Given the description of an element on the screen output the (x, y) to click on. 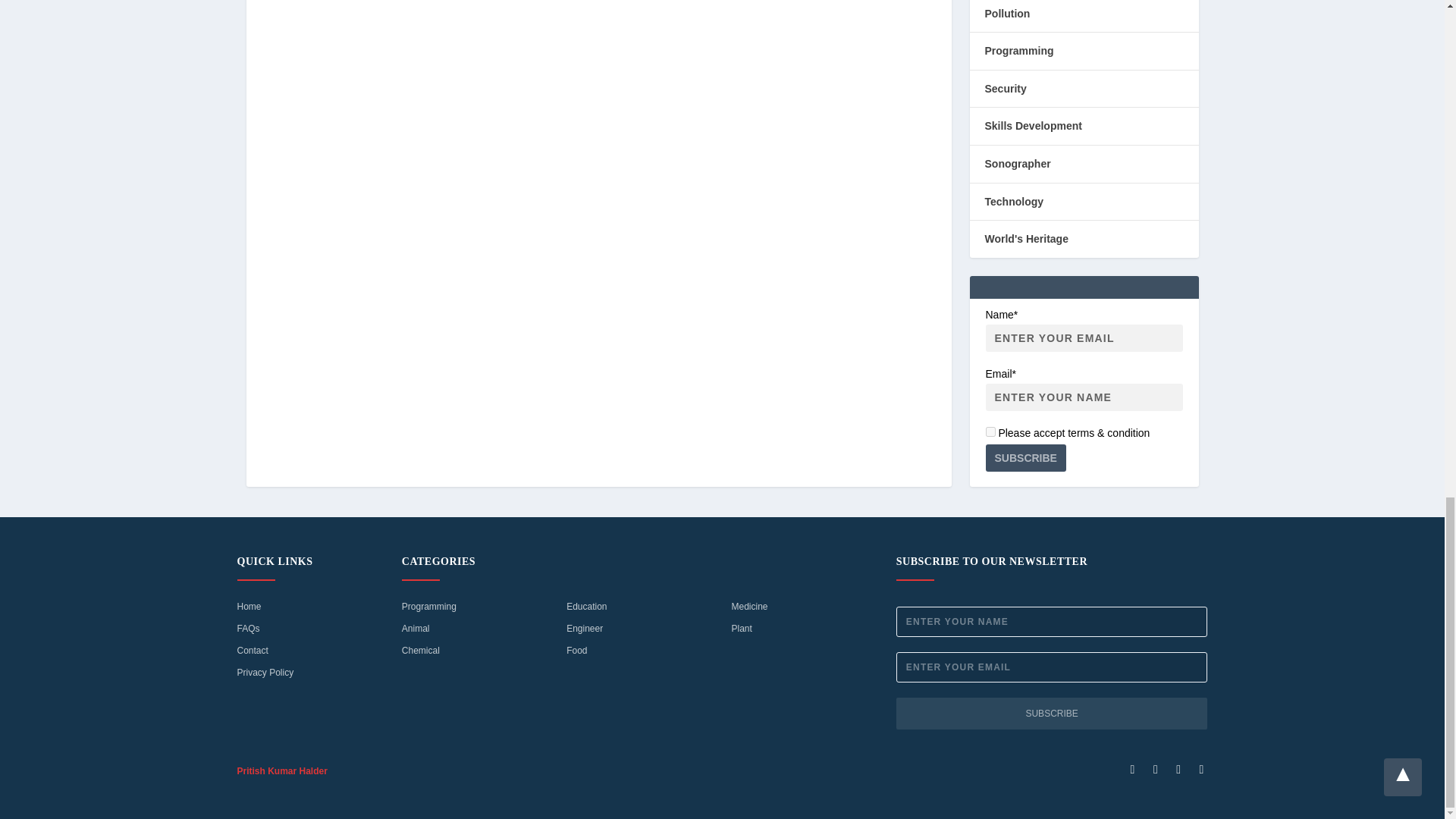
Subscribe (1025, 457)
Subscribe (1052, 713)
Pritish Kumar Halder (280, 770)
true (990, 431)
